Given the description of an element on the screen output the (x, y) to click on. 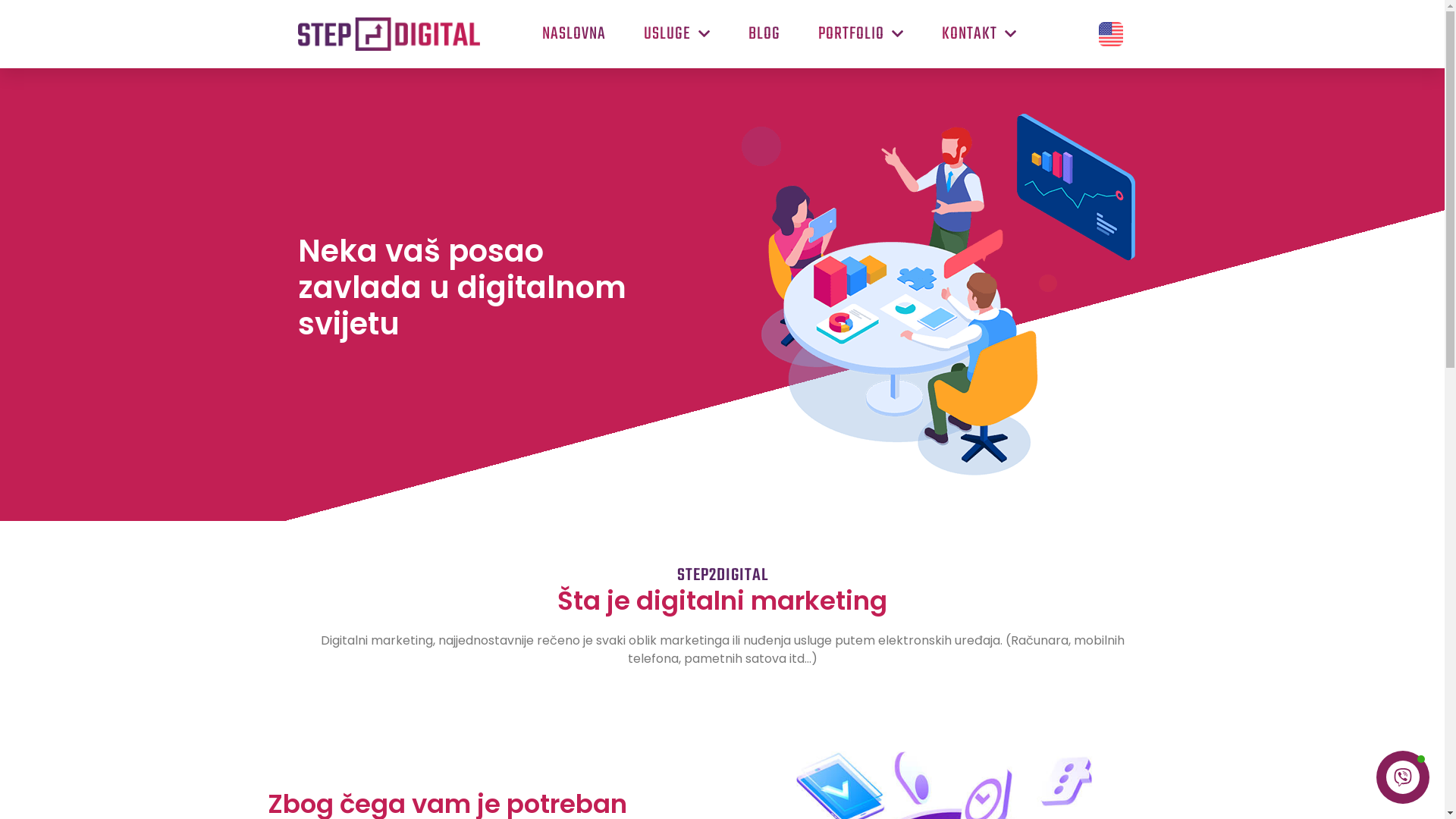
USLUGE Element type: text (676, 34)
KONTAKT Element type: text (978, 34)
BLOG Element type: text (764, 34)
PORTFOLIO Element type: text (860, 34)
NASLOVNA Element type: text (573, 34)
